Given the description of an element on the screen output the (x, y) to click on. 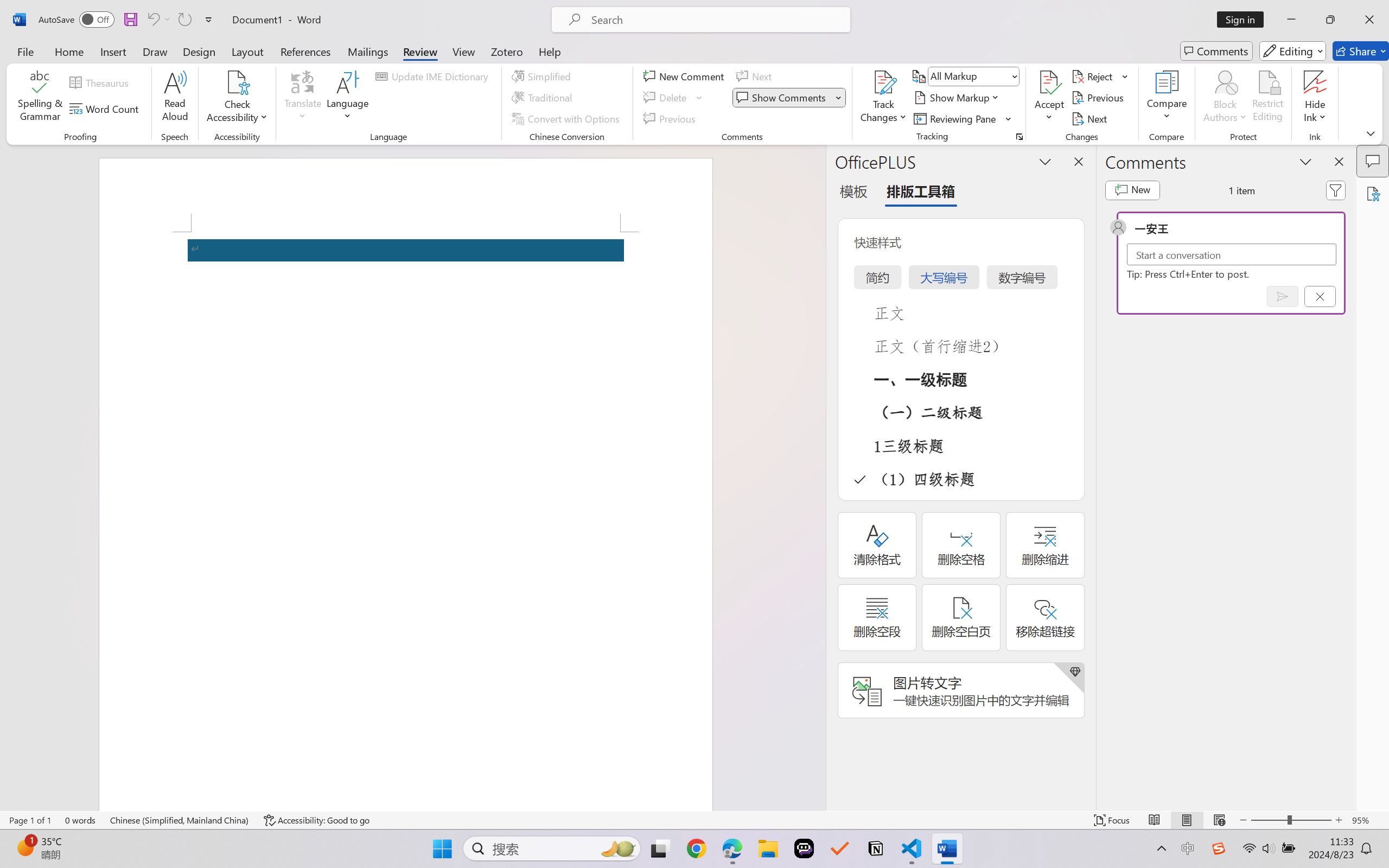
Accept and Move to Next (1049, 81)
Update IME Dictionary... (433, 75)
Cancel (1320, 296)
Delete (666, 97)
Display for Review (973, 75)
Translate (303, 97)
Undo Apply Quick Style Set (158, 19)
